Given the description of an element on the screen output the (x, y) to click on. 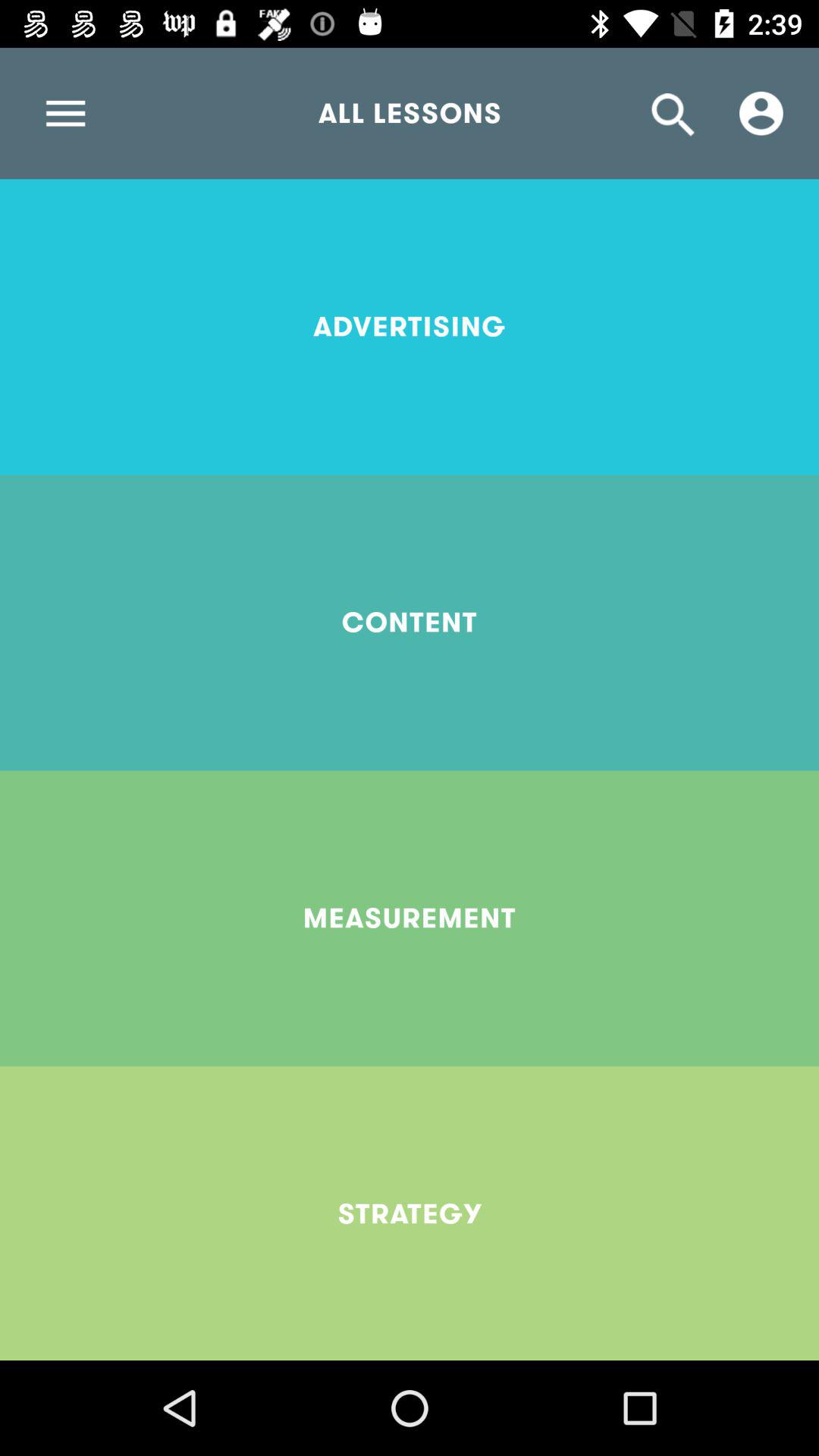
turn on the icon to the left of the all lessons item (65, 113)
